Given the description of an element on the screen output the (x, y) to click on. 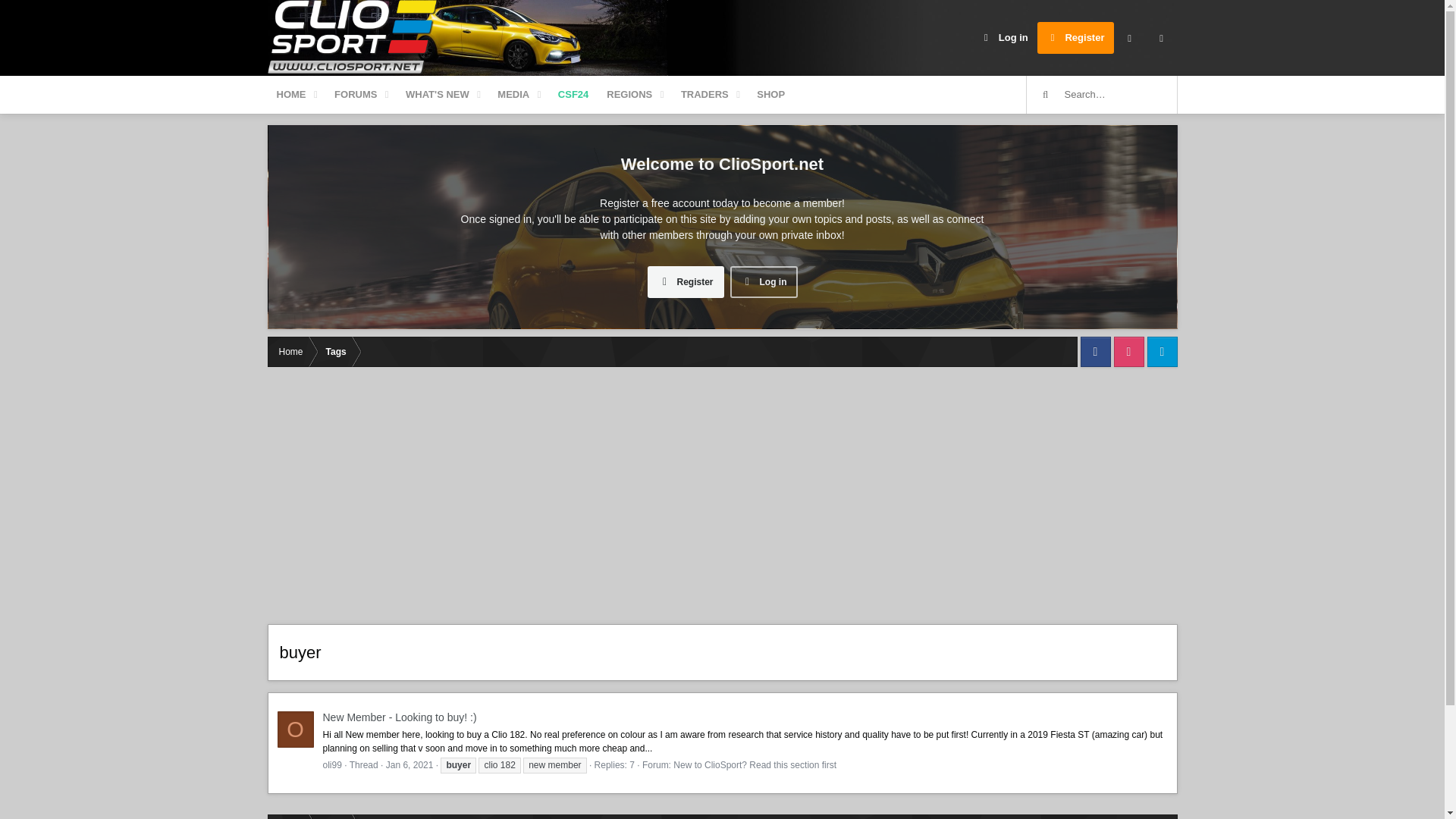
Jan 6, 2021 at 11:39 AM (409, 765)
Register (1074, 38)
HOME (289, 94)
MEDIA (512, 94)
ClioSport.net - The Worlds Largest Clio Owners Club (352, 38)
Customize (1128, 38)
WHAT'S NEW (436, 94)
CSF24 (572, 94)
FORUMS (529, 94)
